Given the description of an element on the screen output the (x, y) to click on. 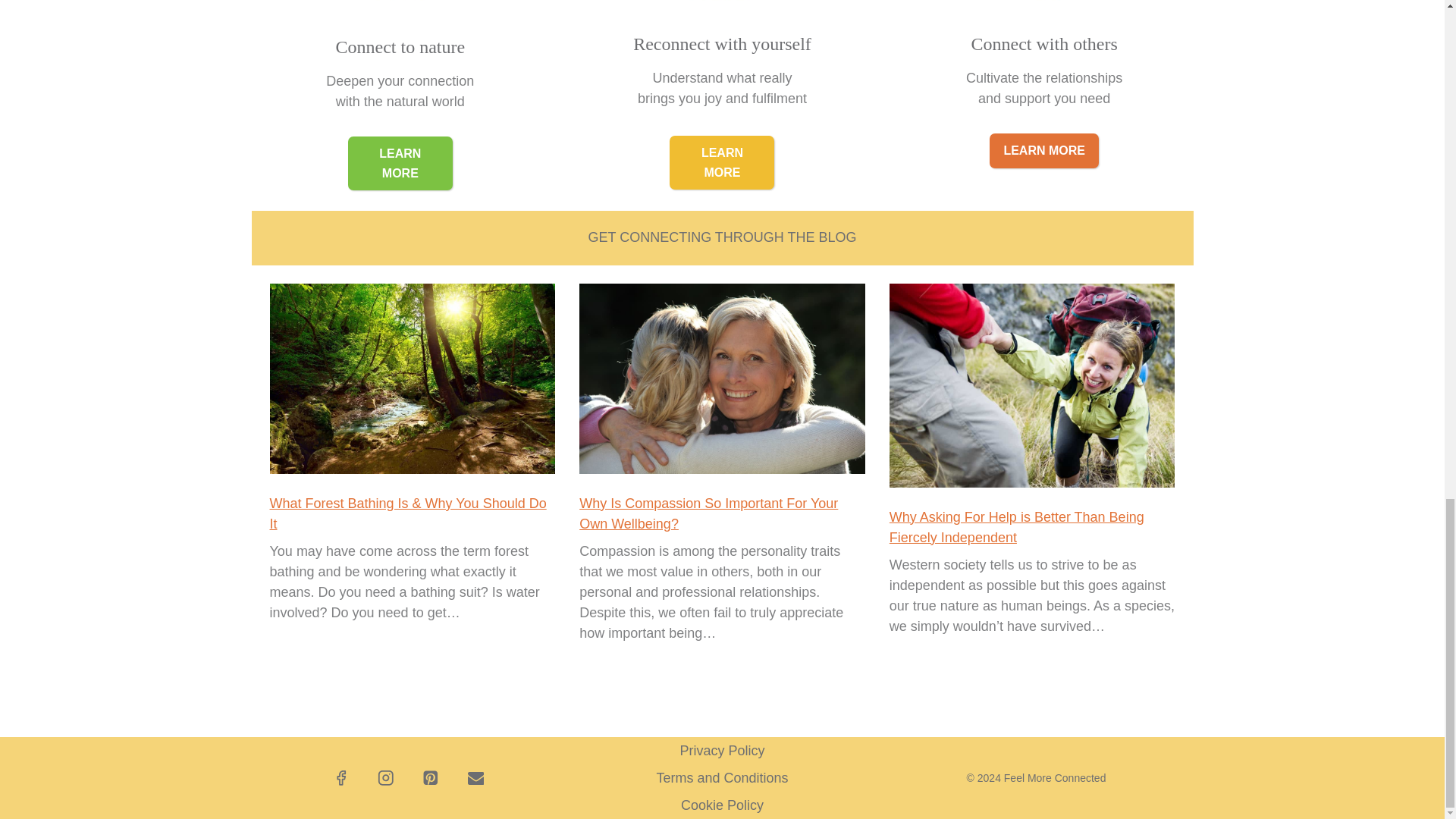
LEARN MORE (399, 163)
LEARN MORE (721, 162)
LEARN MORE (1044, 150)
Privacy Policy (722, 750)
Terms and Conditions (722, 777)
Why Is Compassion So Important For Your Own Wellbeing? (708, 513)
